Given the description of an element on the screen output the (x, y) to click on. 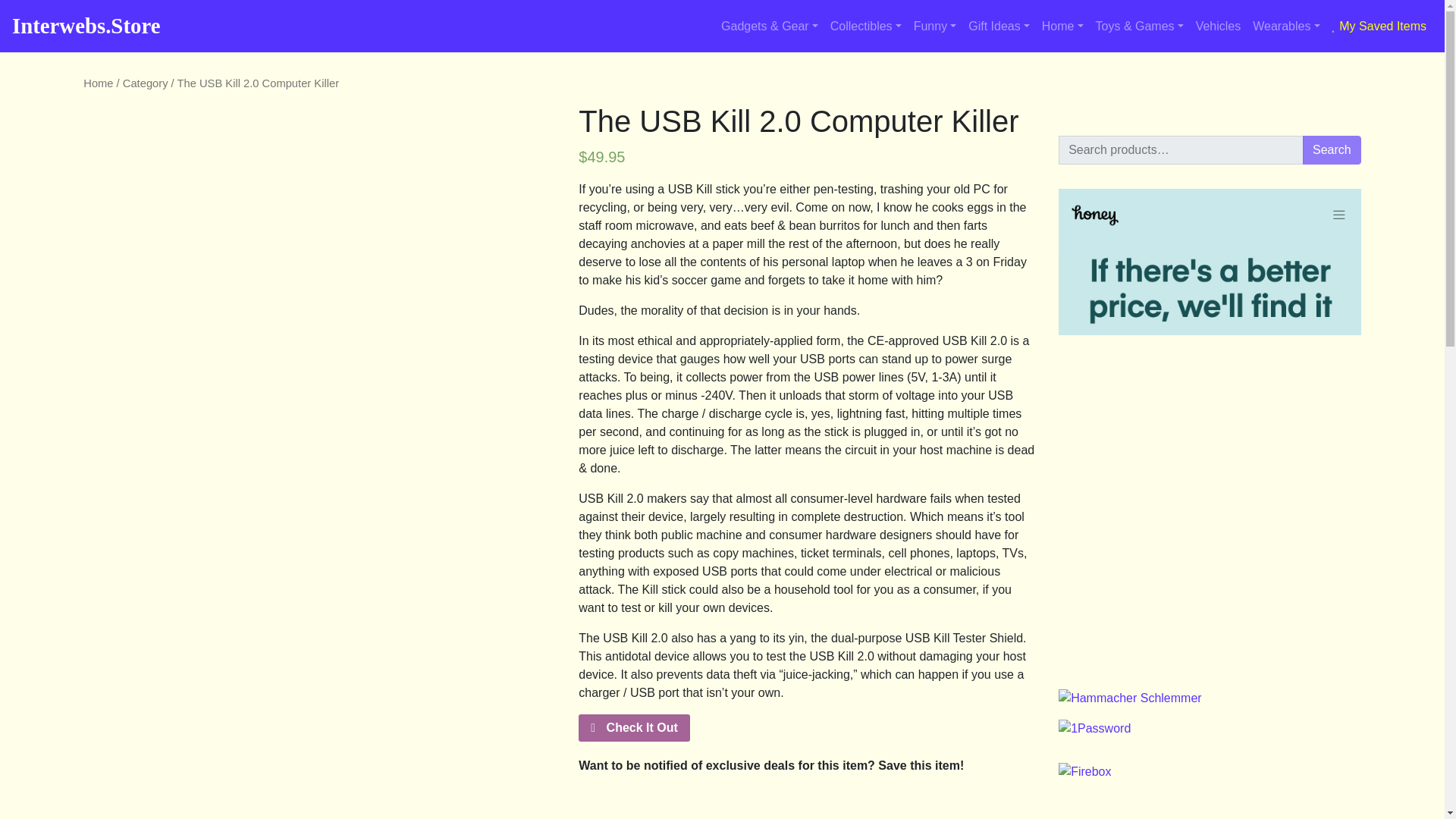
Interwebs.Store (85, 25)
Gift Ideas (998, 26)
Collectibles (865, 26)
Funny (934, 26)
Collectibles (865, 26)
Interwebs.Store (85, 25)
